Given the description of an element on the screen output the (x, y) to click on. 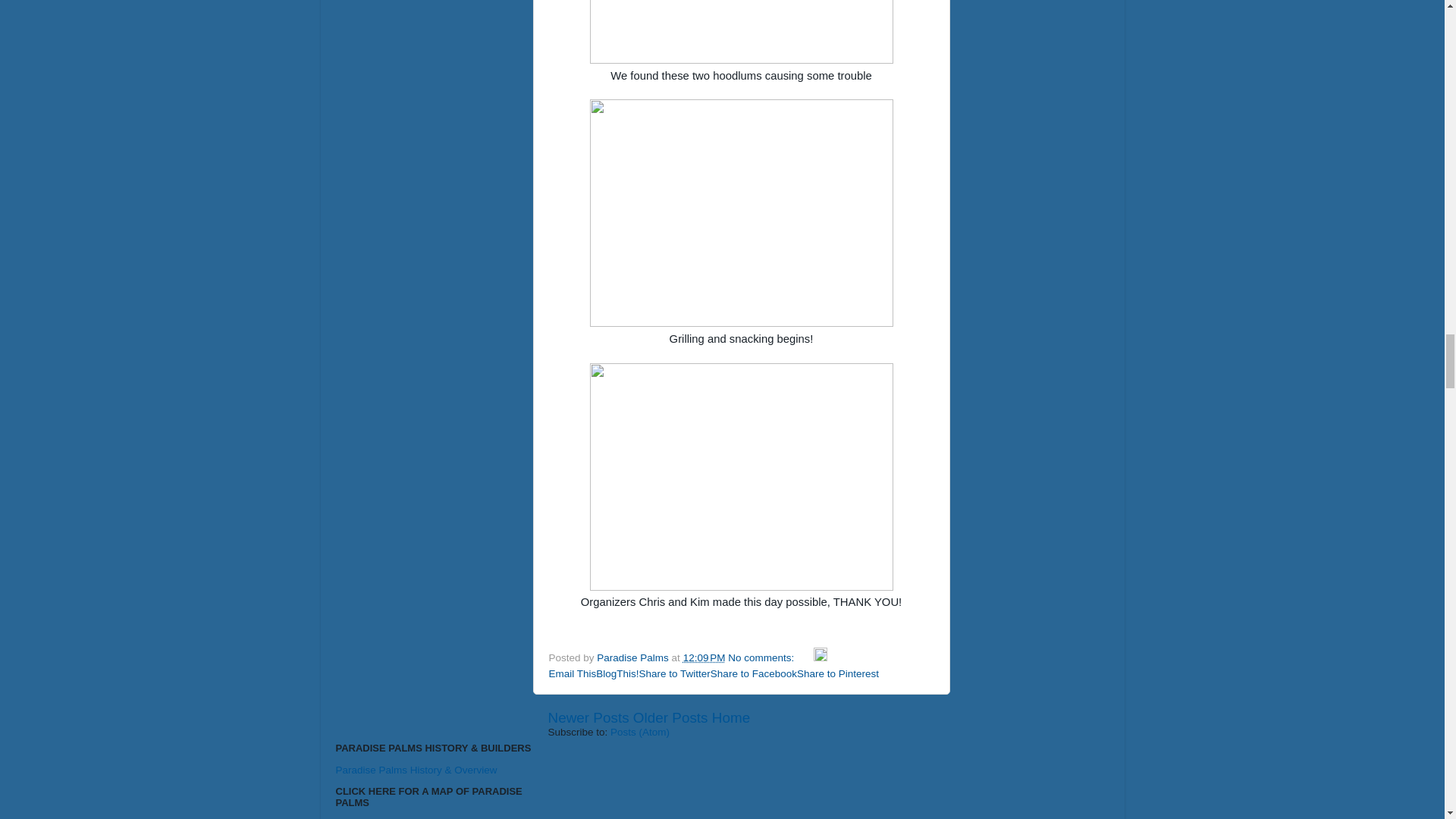
Email This (572, 673)
Share to Pinterest (837, 673)
Share to Facebook (753, 673)
permanent link (703, 657)
BlogThis! (617, 673)
Paradise Palms (633, 657)
No comments: (762, 657)
BlogThis! (617, 673)
Edit Post (820, 657)
Share to Twitter (674, 673)
Share to Facebook (753, 673)
Email This (572, 673)
Newer Posts (587, 717)
Home (730, 717)
